Given the description of an element on the screen output the (x, y) to click on. 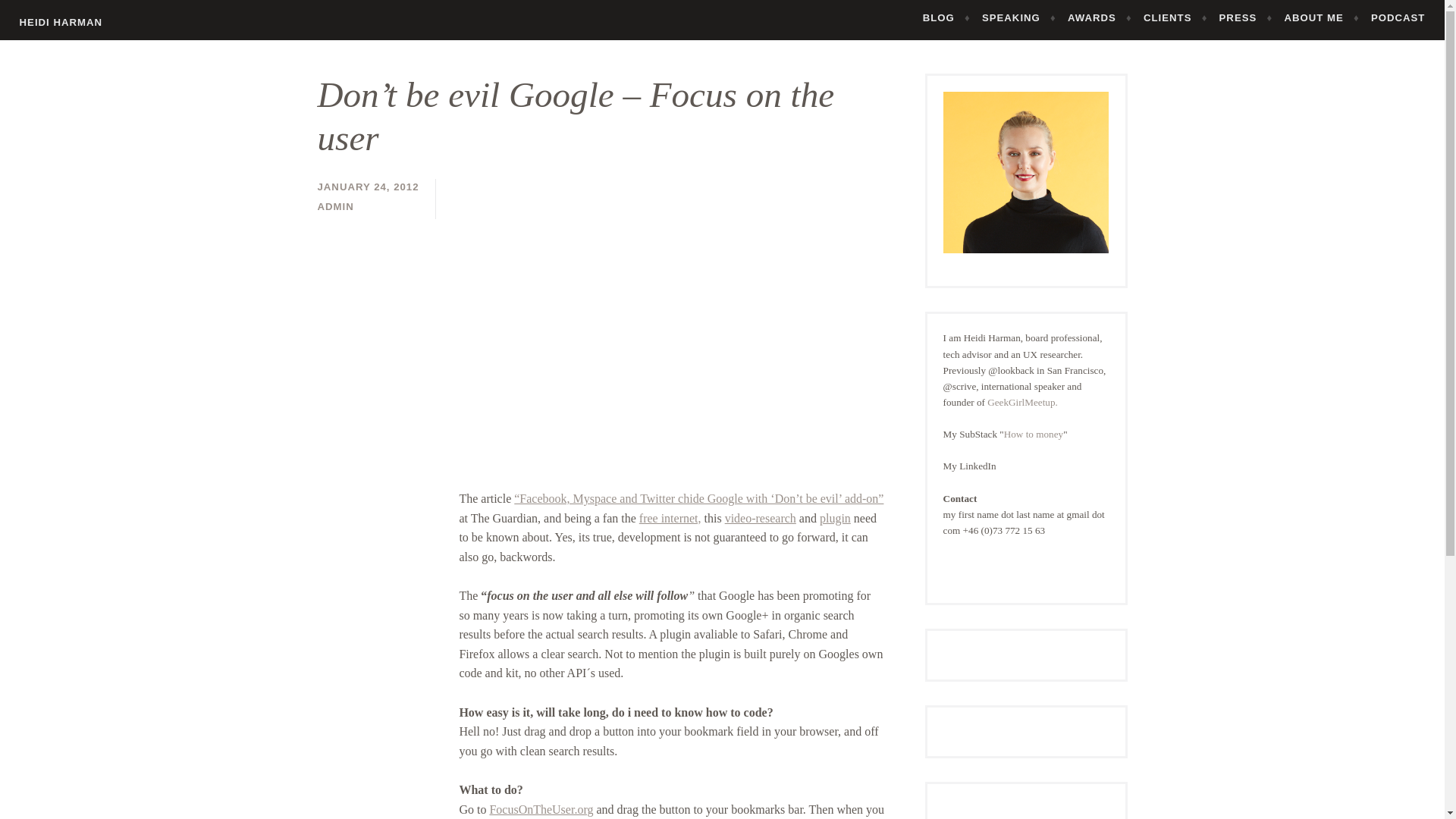
plugin (834, 517)
ABOUT ME (1321, 17)
CLIENTS (1174, 17)
free internet, (670, 517)
SPEAKING (1019, 17)
JANUARY 24, 2012 (368, 186)
PODCAST (1398, 17)
BLOG (947, 17)
AWARDS (1099, 17)
PRESS (1246, 17)
HEIDI HARMAN (60, 21)
FocusOnTheUser.org (540, 809)
ADMIN (335, 206)
video-research (760, 517)
